Given the description of an element on the screen output the (x, y) to click on. 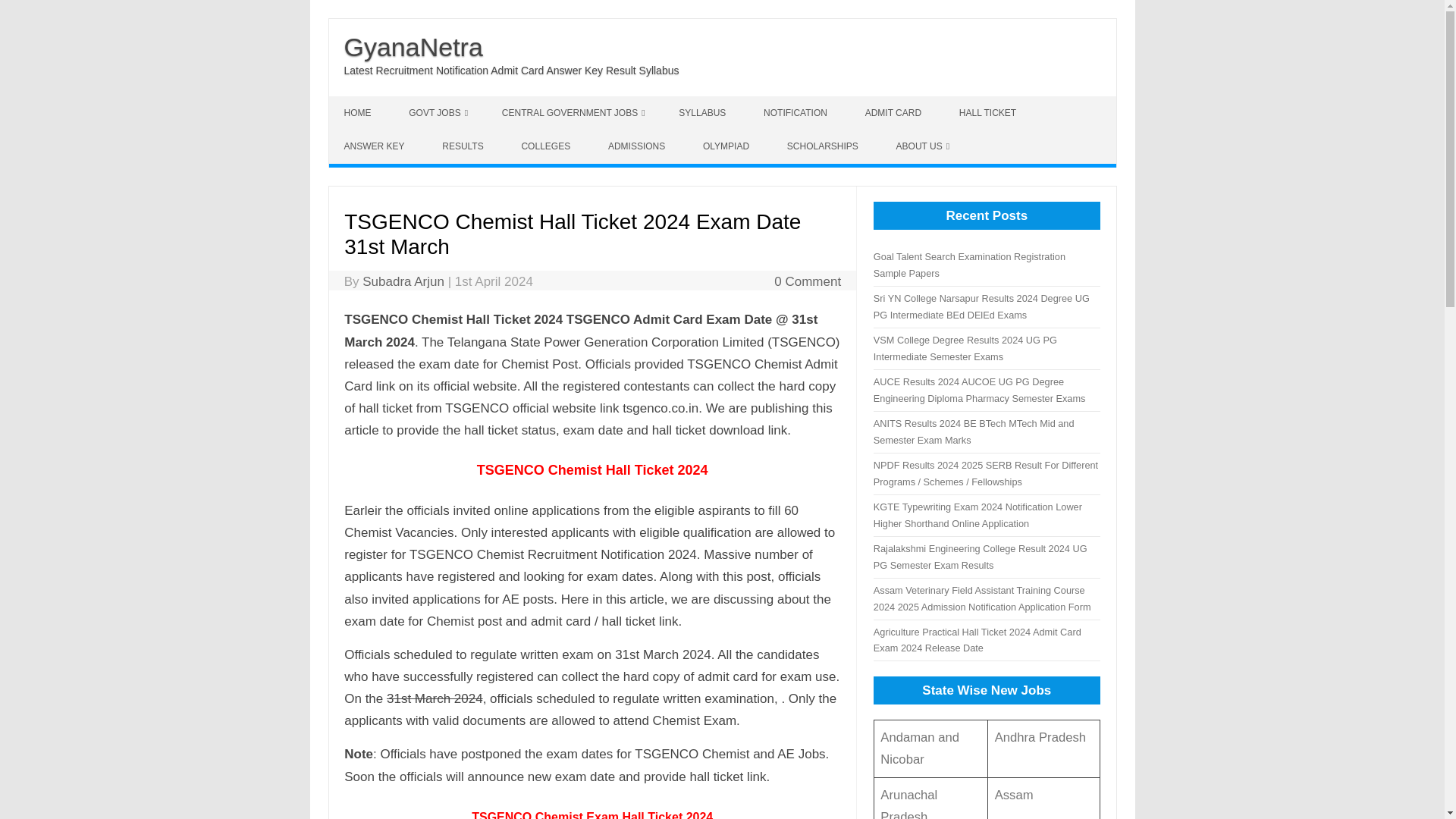
COLLEGES (547, 145)
HALL TICKET (989, 112)
GyanaNetra (413, 46)
ANSWER KEY (376, 145)
NOTIFICATION (796, 112)
HOME (359, 112)
OLYMPIAD (727, 145)
ADMIT CARD (895, 112)
SCHOLARSHIPS (824, 145)
SYLLABUS (703, 112)
ADMISSIONS (638, 145)
ABOUT US (922, 145)
GyanaNetra (413, 46)
Subadra Arjun (403, 281)
